Given the description of an element on the screen output the (x, y) to click on. 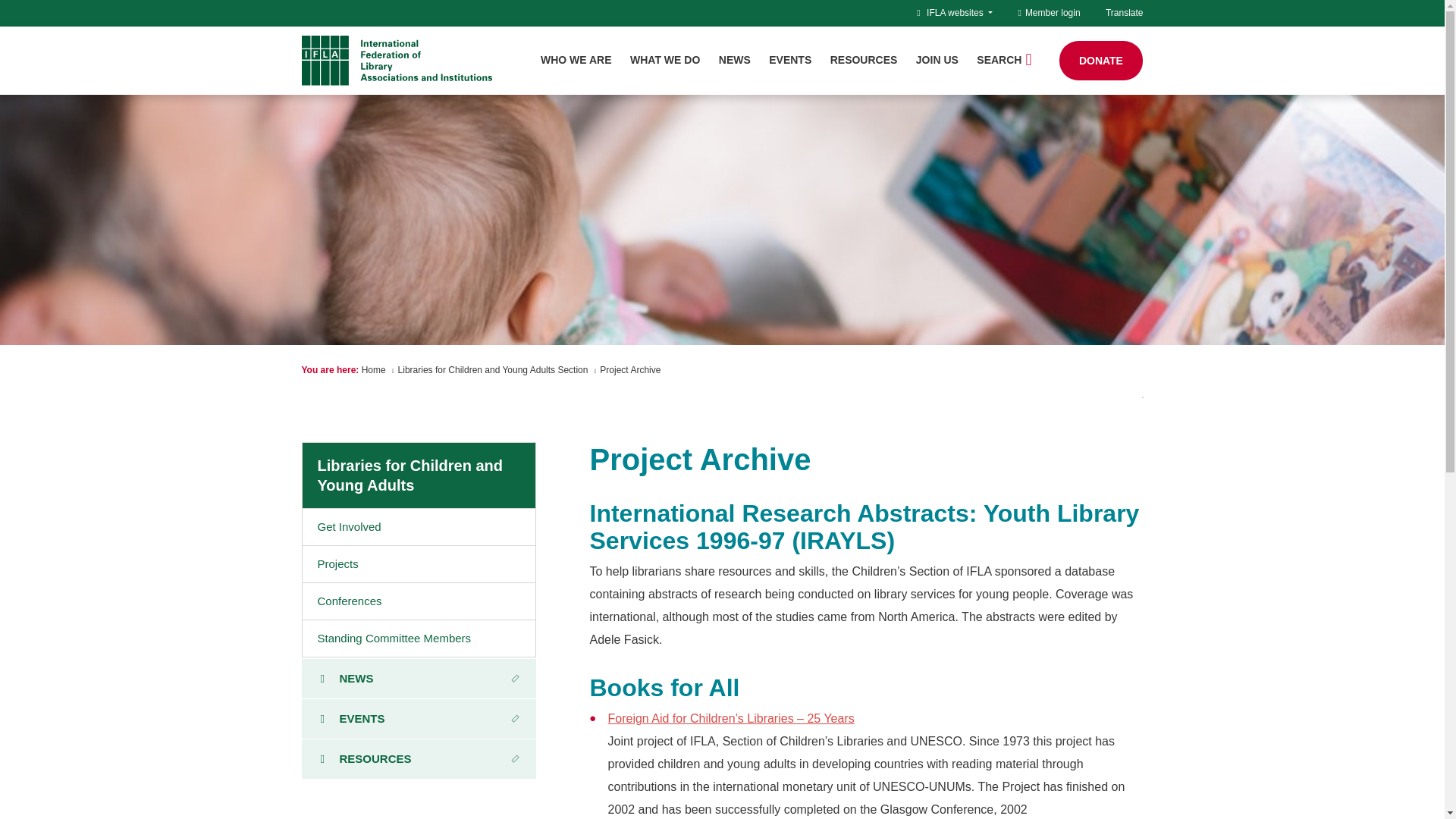
RESOURCES (863, 60)
IFLA websites (959, 12)
Translate (1123, 12)
Project Archive (630, 369)
Home (373, 369)
Libraries for Children and Young Adults Section (492, 369)
Member login (1048, 12)
WHAT WE DO (665, 60)
DONATE (1100, 60)
WHO WE ARE (575, 60)
